Given the description of an element on the screen output the (x, y) to click on. 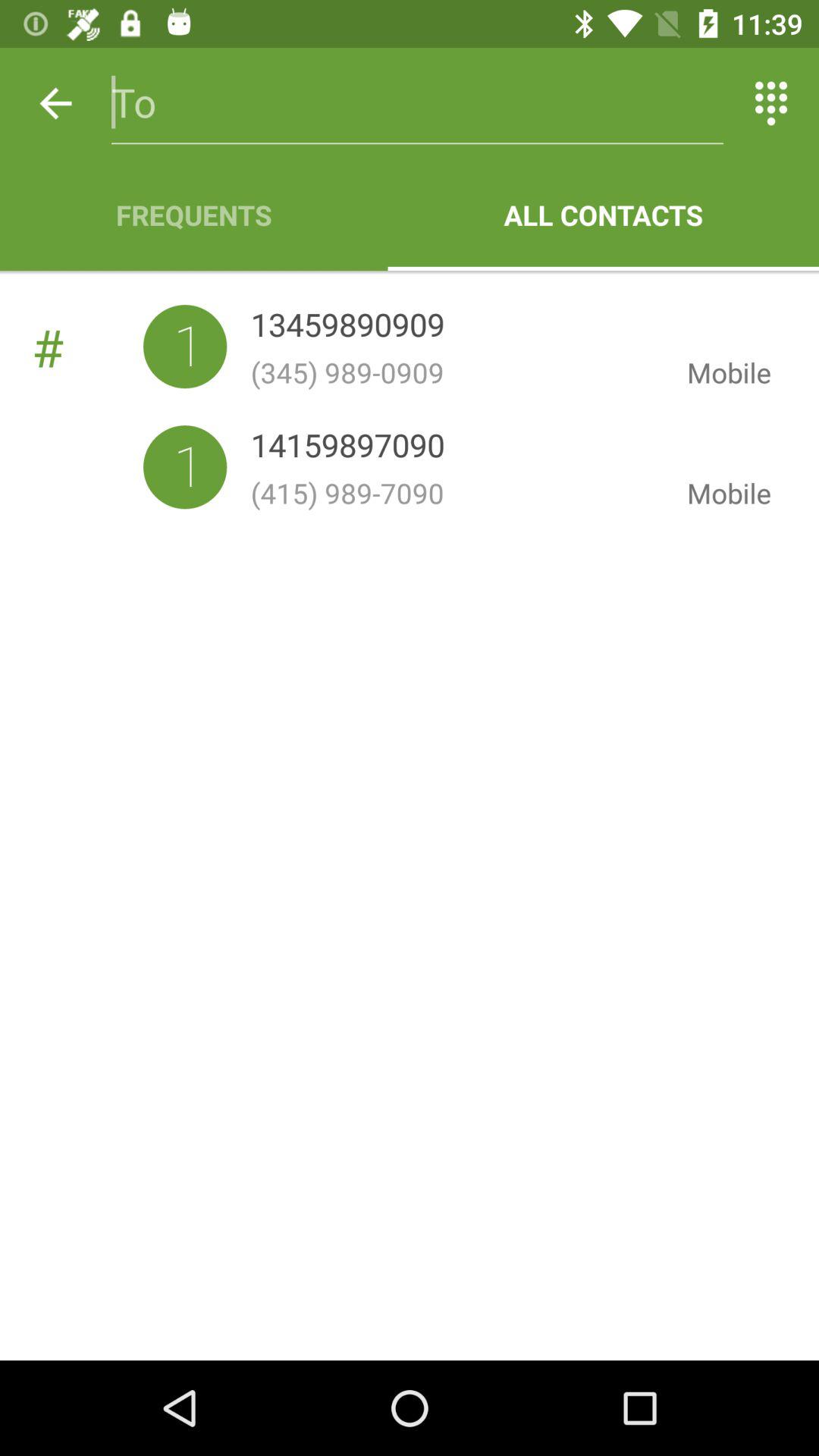
press item above (415) 989-7090 item (347, 448)
